Given the description of an element on the screen output the (x, y) to click on. 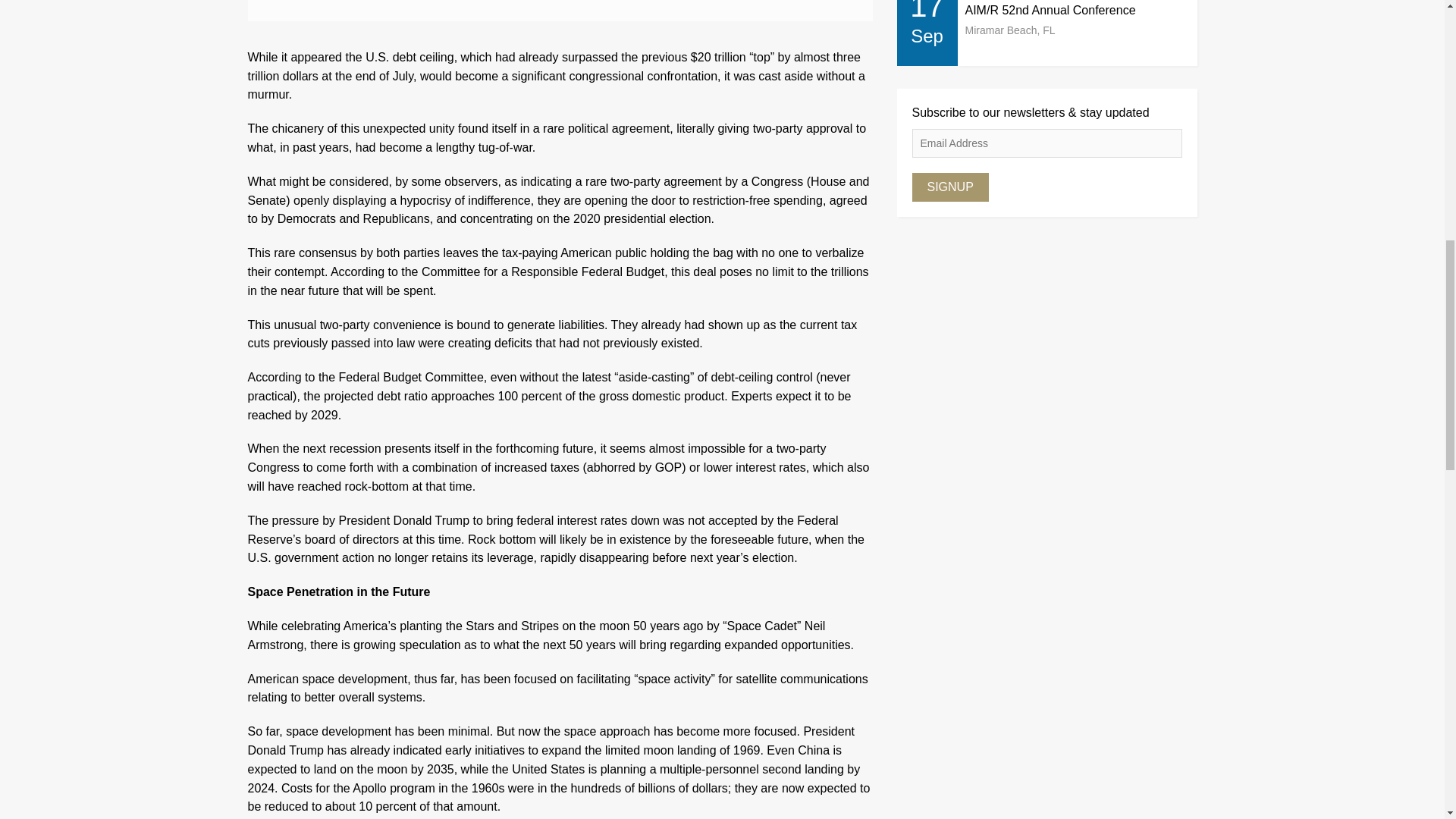
SIGNUP (949, 186)
